Given the description of an element on the screen output the (x, y) to click on. 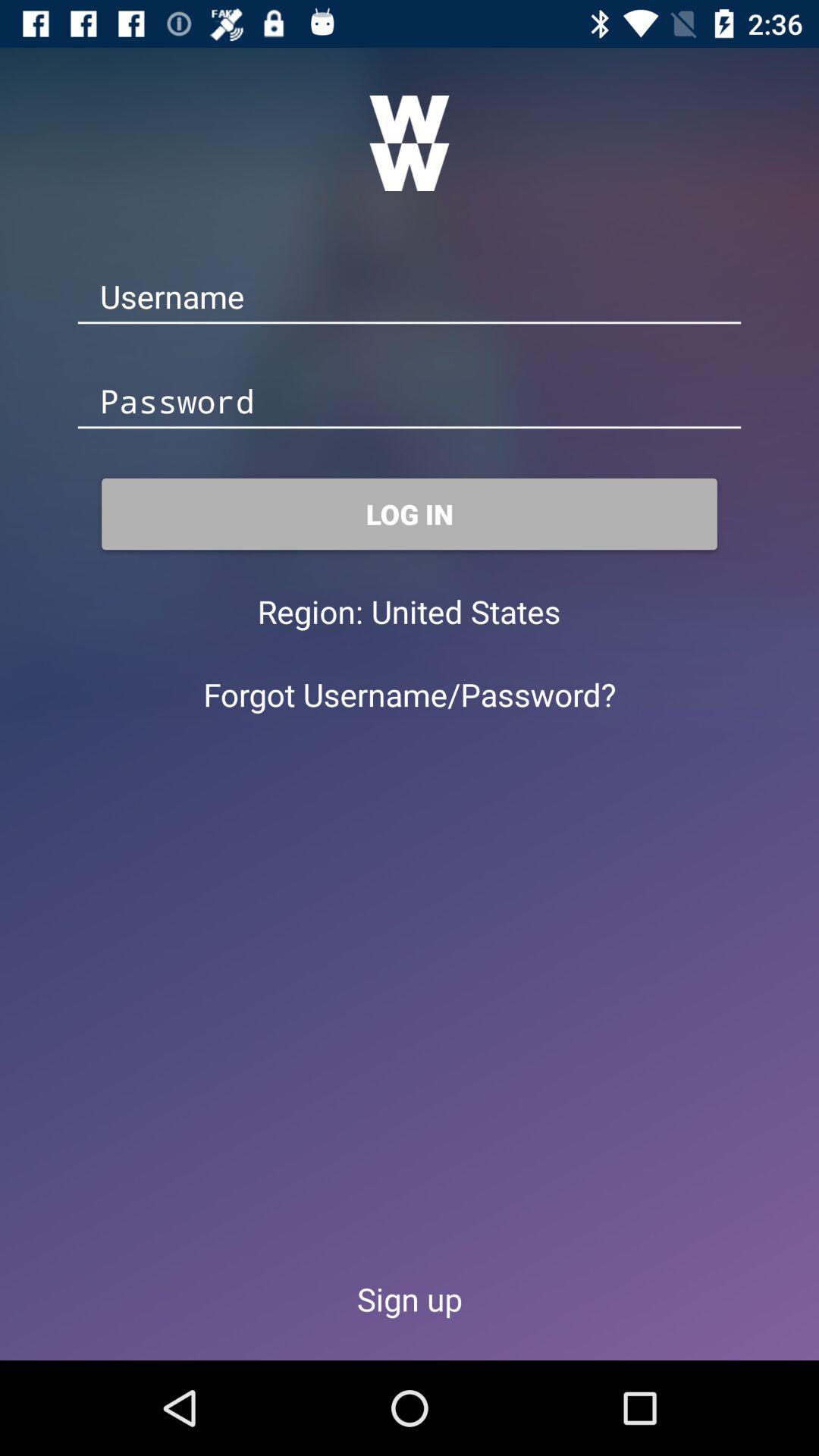
write username (409, 297)
